Given the description of an element on the screen output the (x, y) to click on. 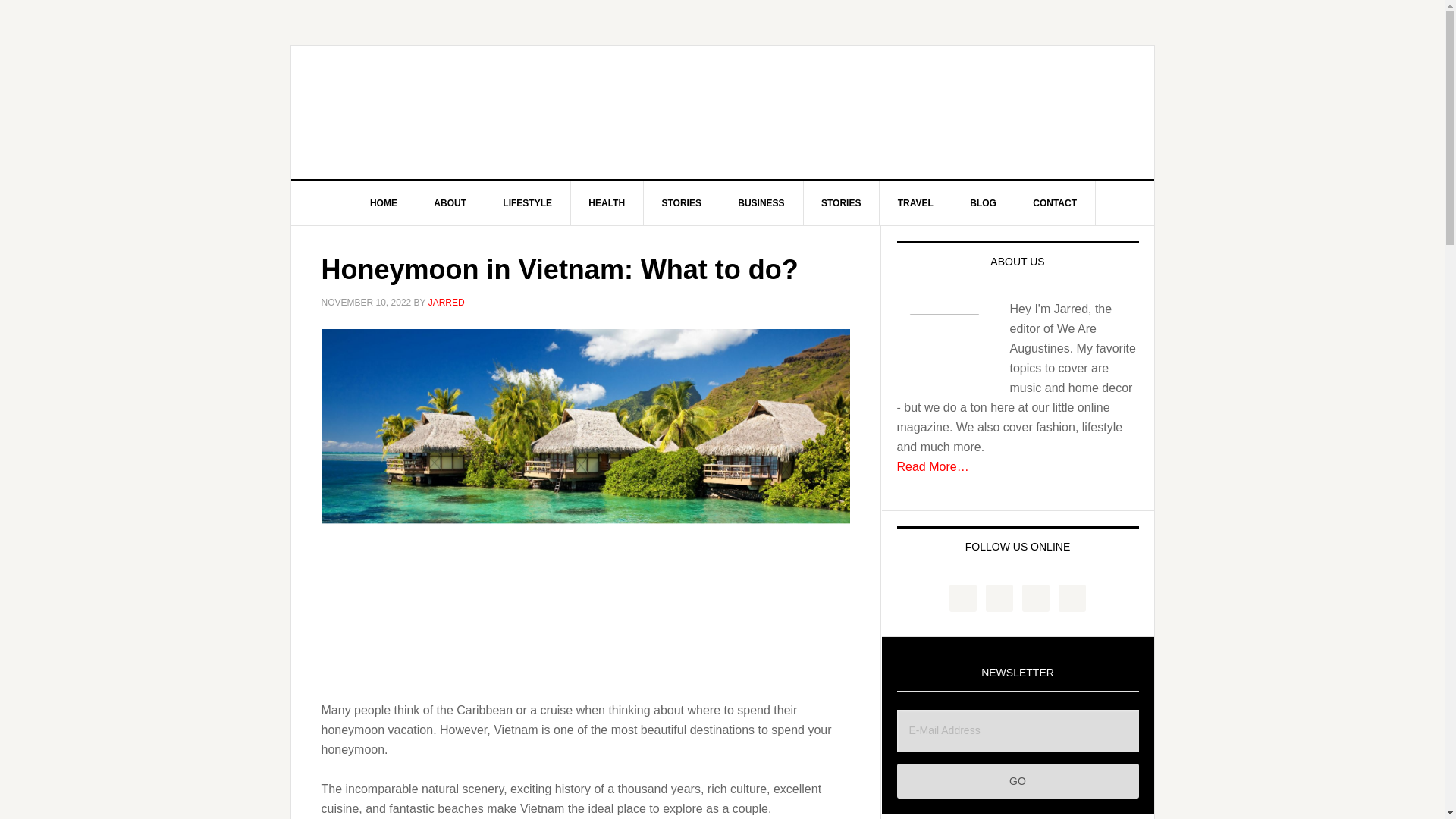
STORIES (681, 202)
Go (1017, 780)
ABOUT (449, 202)
JARRED (446, 302)
WE ARE AUGUSTINES (722, 112)
HEALTH (606, 202)
TRAVEL (915, 202)
CONTACT (1055, 202)
Go (1017, 780)
STORIES (841, 202)
